Given the description of an element on the screen output the (x, y) to click on. 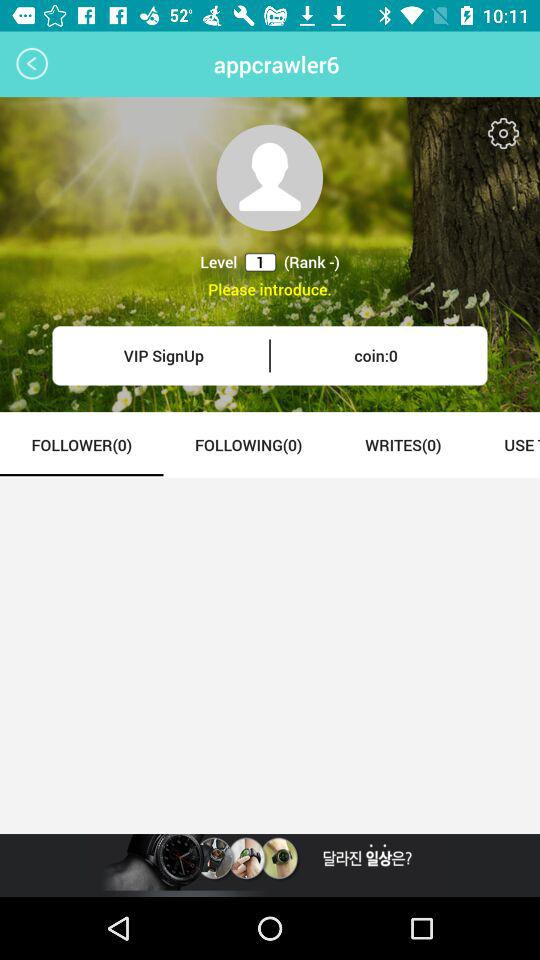
turn on the icon to the left of the use theme(0) app (402, 444)
